Given the description of an element on the screen output the (x, y) to click on. 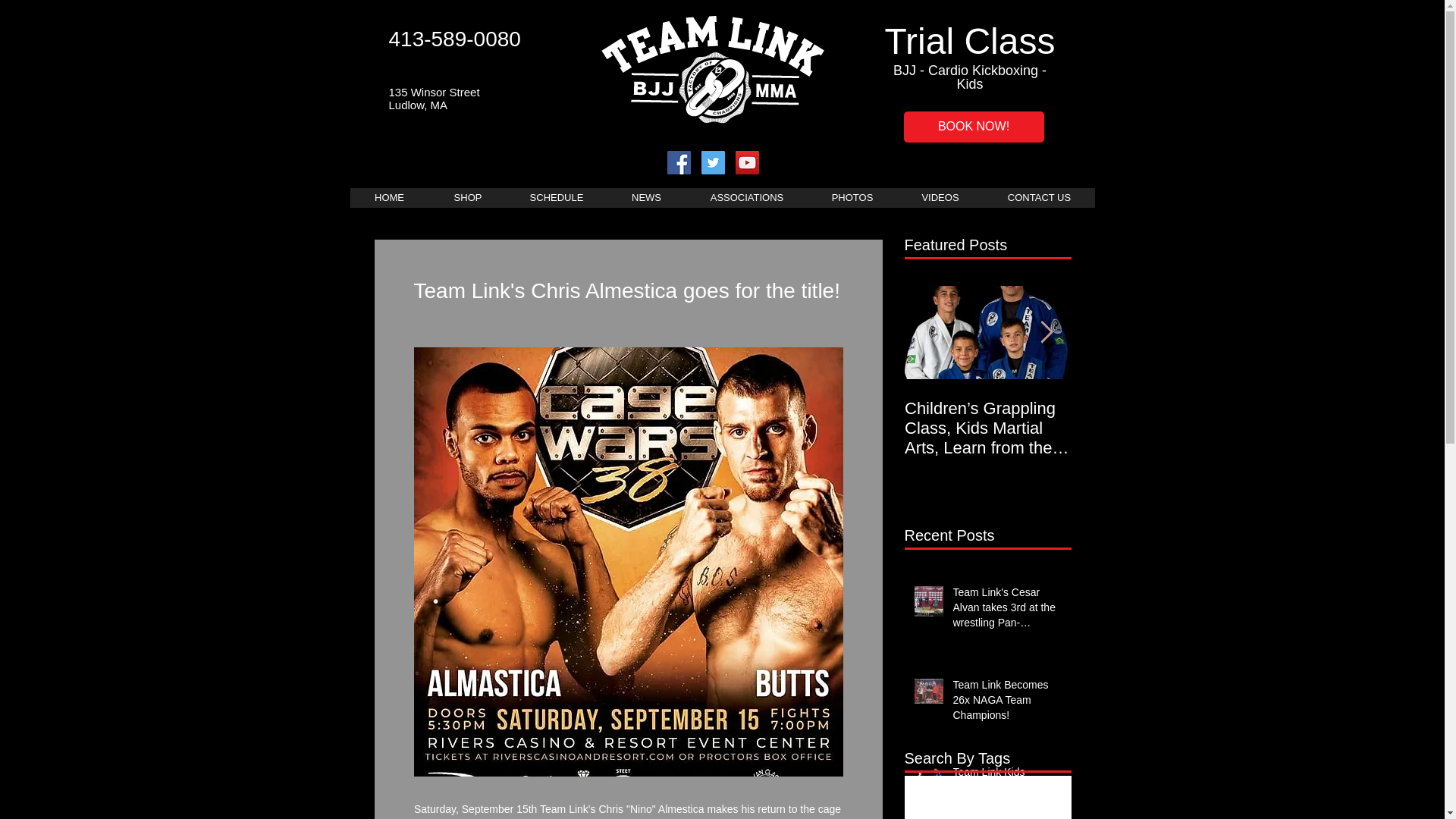
SHOP (467, 198)
Team Link Kids Brazilian Jiu Jitsu (1006, 782)
SCHEDULE (556, 198)
NEWS (646, 198)
VIDEOS (939, 198)
Marco Alvan Brazilian Jiu Jitsu Seminar (1153, 418)
CONTACT US (1038, 198)
BOOK NOW! (973, 126)
HOME (389, 198)
